Given the description of an element on the screen output the (x, y) to click on. 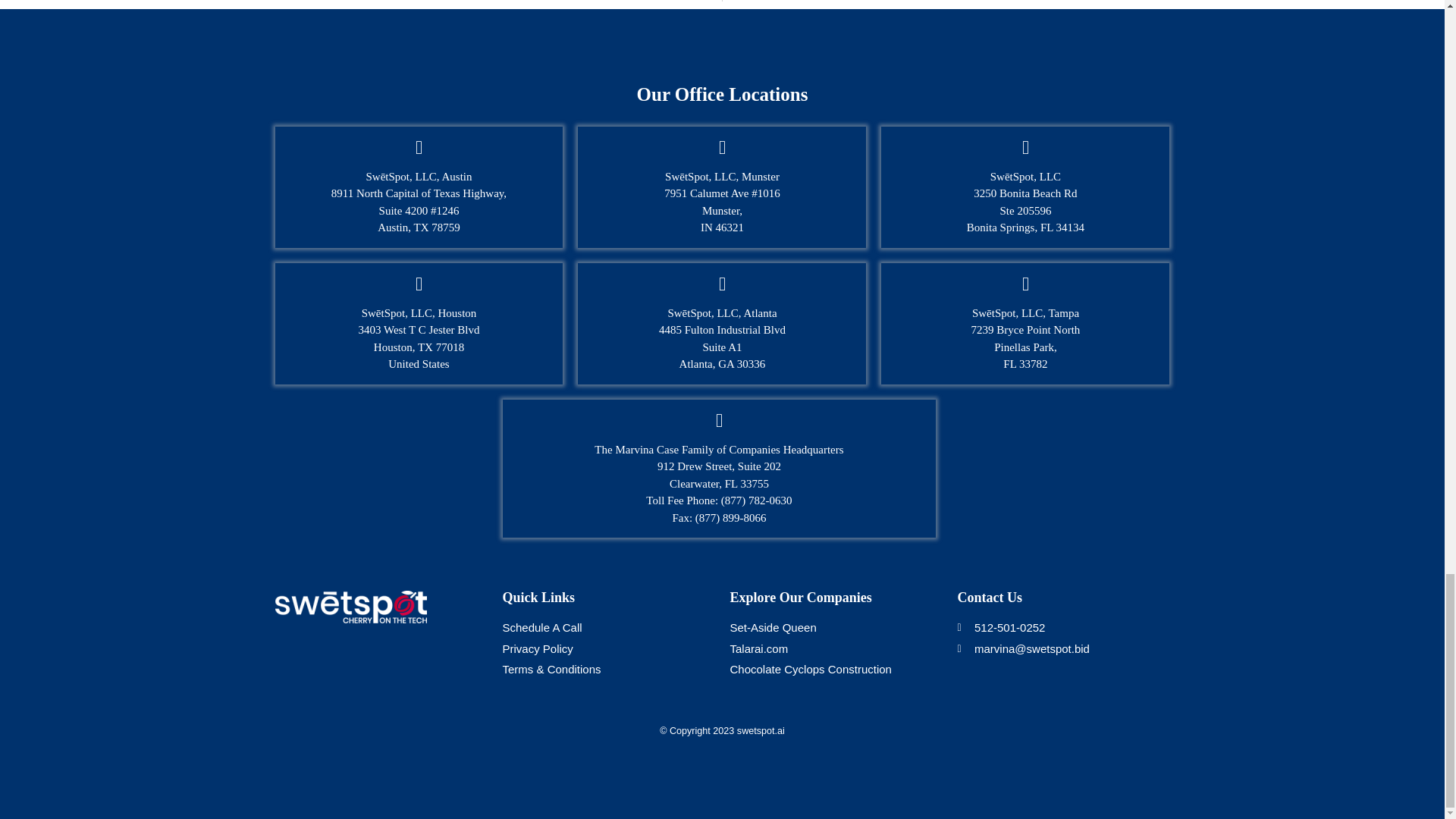
Chocolate Cyclops Construction (835, 669)
512-501-0252 (1062, 628)
Set-Aside Queen (835, 628)
Talarai.com (835, 649)
Schedule A Call (608, 628)
swetspot (350, 606)
Privacy Policy (608, 649)
